Given the description of an element on the screen output the (x, y) to click on. 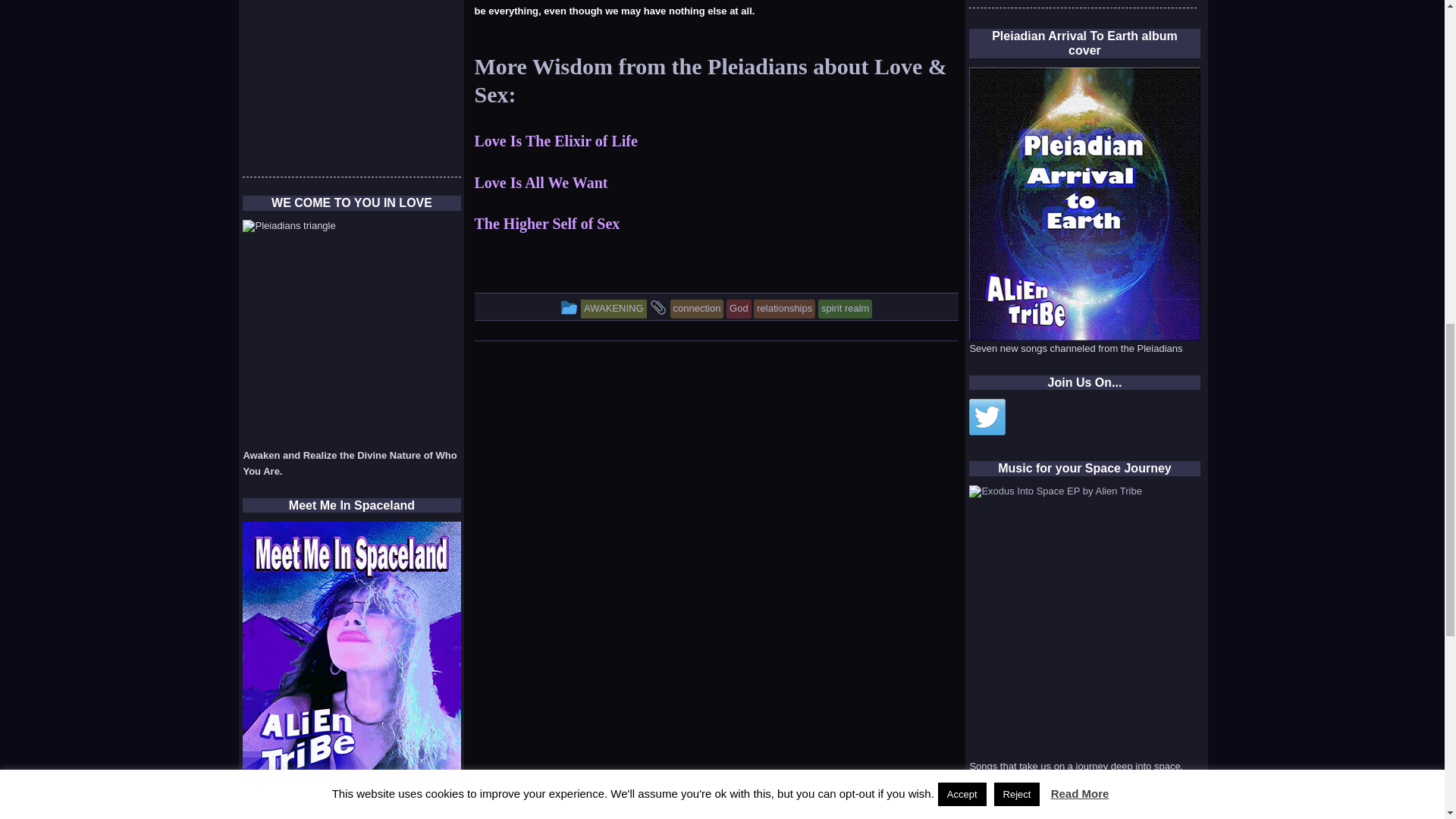
Love Is The Elixir of Life (555, 140)
AWAKENING (613, 307)
Love Is All We Want (541, 182)
The Higher Self of Sex (547, 223)
